Given the description of an element on the screen output the (x, y) to click on. 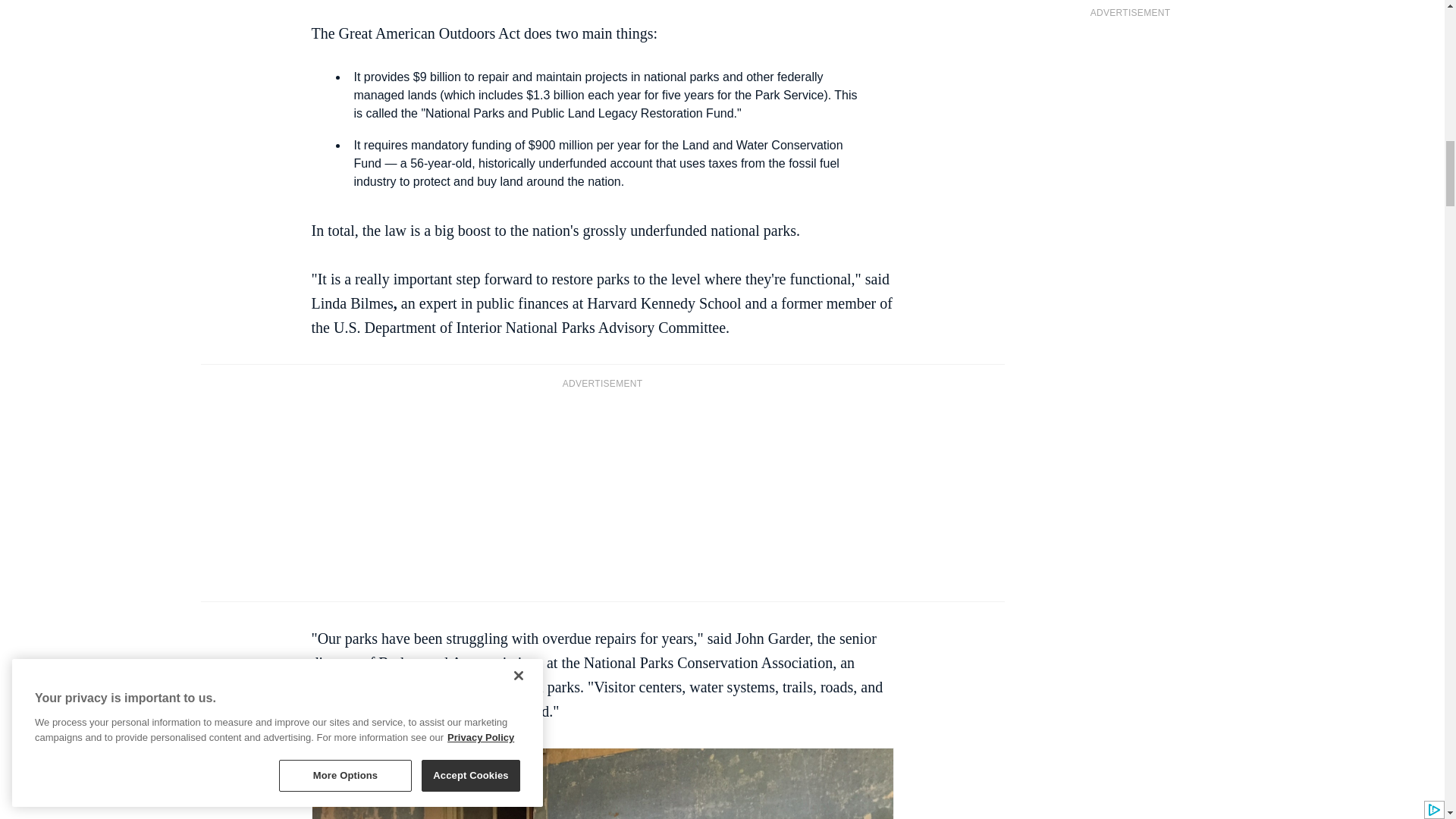
3rd party ad content (601, 493)
